Given the description of an element on the screen output the (x, y) to click on. 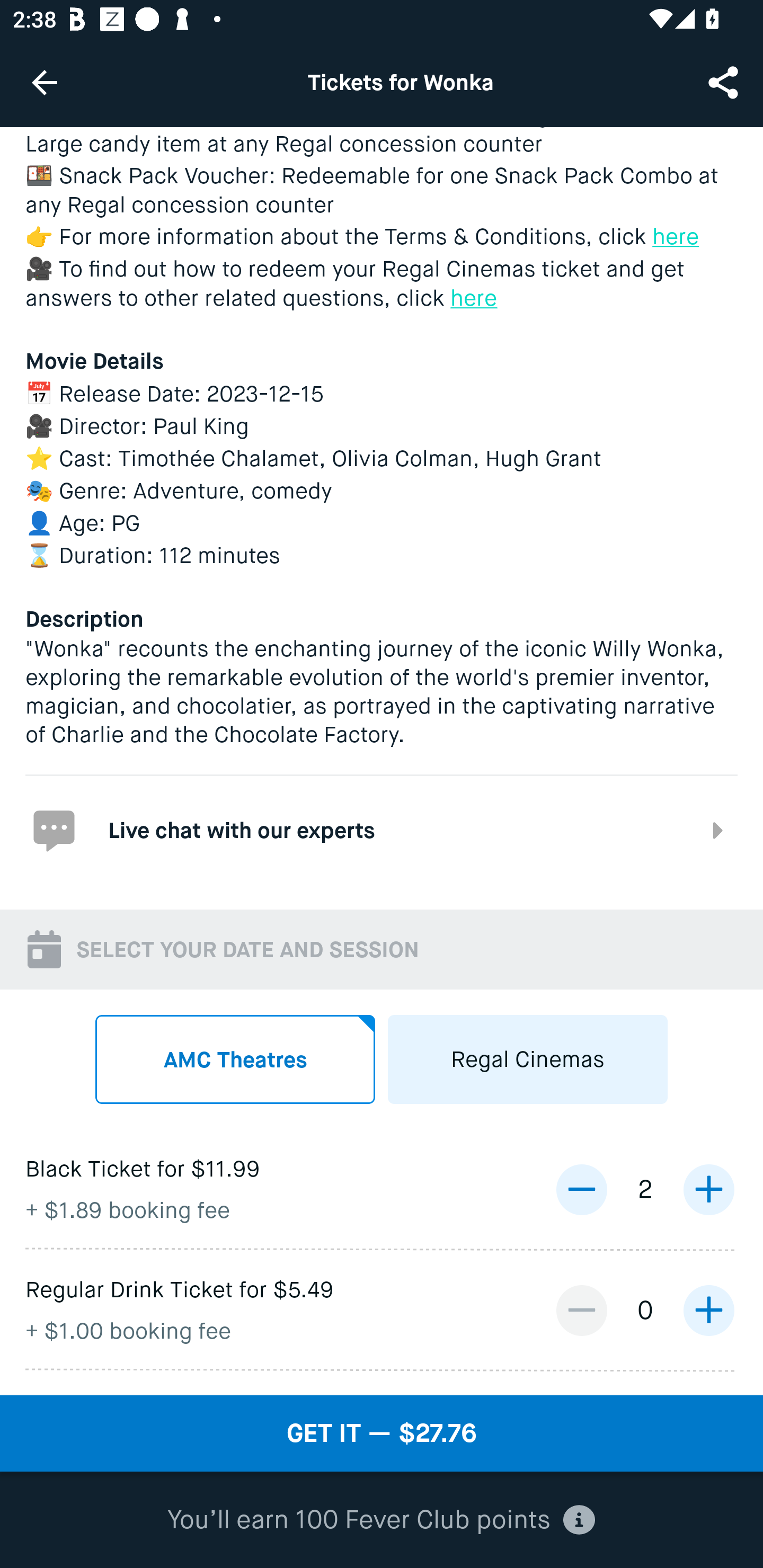
Navigate up (44, 82)
Share (724, 81)
Live chat with our experts (381, 829)
AMC Theatres (235, 1058)
Regal Cinemas (527, 1058)
decrease (581, 1188)
increase (708, 1188)
decrease (581, 1309)
increase (708, 1309)
GET IT — $27.76 (381, 1433)
You’ll earn 100 Fever Club points (381, 1519)
